Given the description of an element on the screen output the (x, y) to click on. 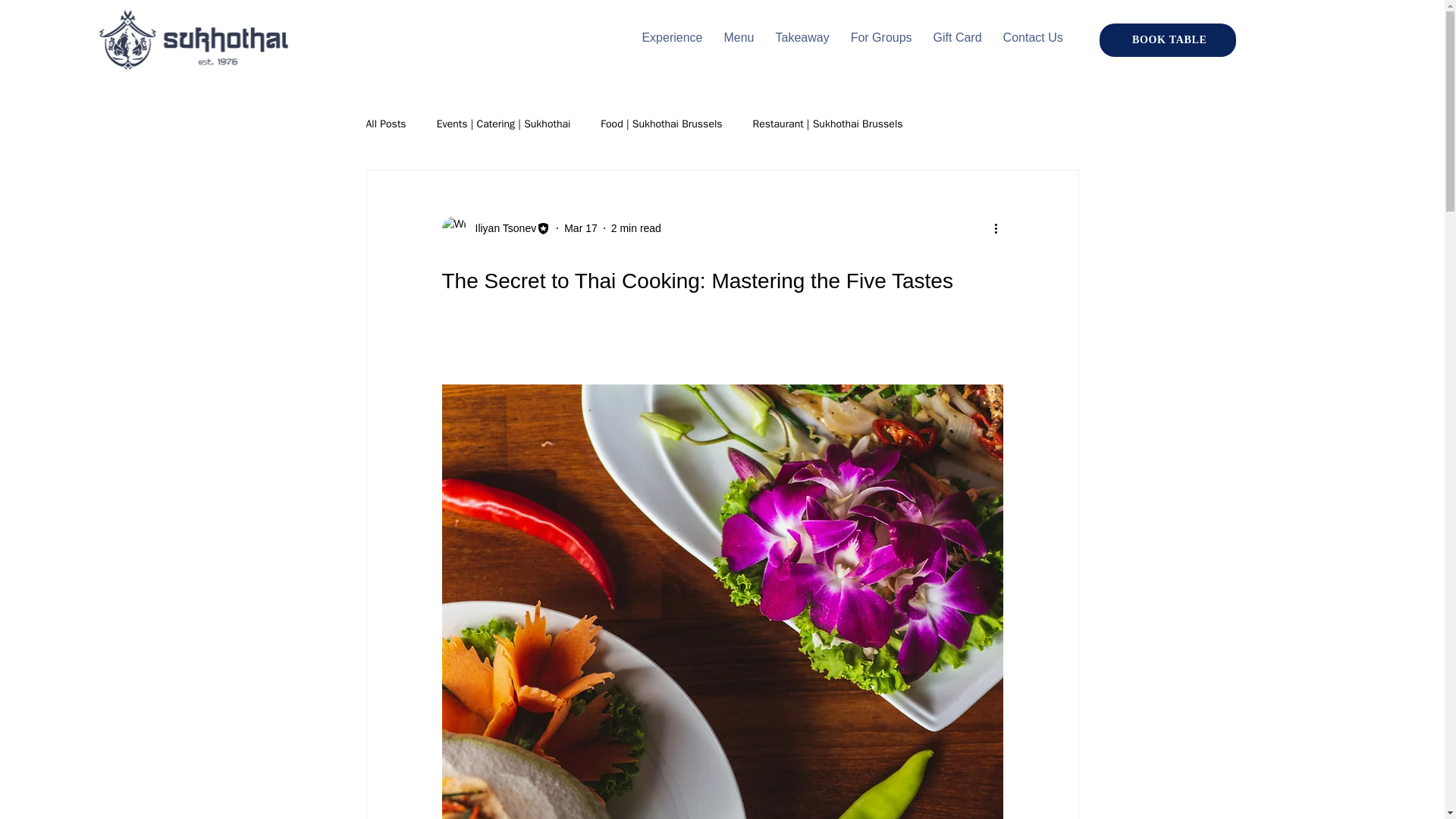
Experience (671, 37)
Menu (738, 37)
2 min read (636, 227)
BOOK TABLE (757, 37)
All Posts (1167, 39)
Mar 17 (385, 124)
Takeaway (580, 227)
Iliyan Tsonev (801, 37)
Iliyan Tsonev (495, 228)
Gift Card (500, 228)
Contact Us (958, 37)
For Groups (1032, 37)
